Given the description of an element on the screen output the (x, y) to click on. 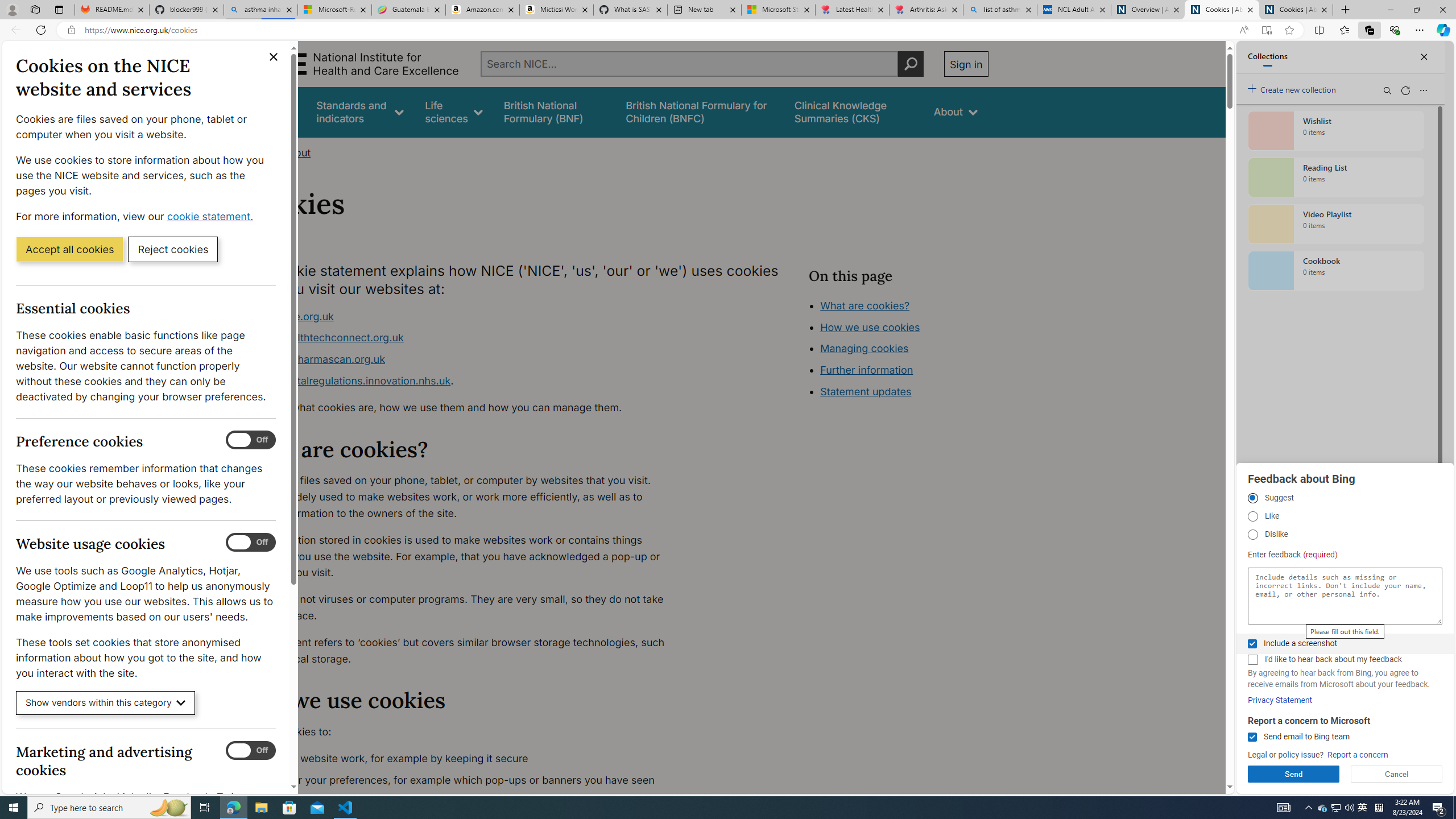
Microsoft Start (777, 9)
Guidance (272, 111)
www.nice.org.uk (464, 316)
Preference cookies (250, 439)
Settings and more (Alt+F) (1419, 29)
make our website work, for example by keeping it secure (464, 759)
Life sciences (453, 111)
Close cookie banner (273, 56)
www.healthtechconnect.org.uk (327, 337)
Home (252, 152)
Cancel (1396, 773)
About (296, 152)
list of asthma inhalers uk - Search (1000, 9)
